Given the description of an element on the screen output the (x, y) to click on. 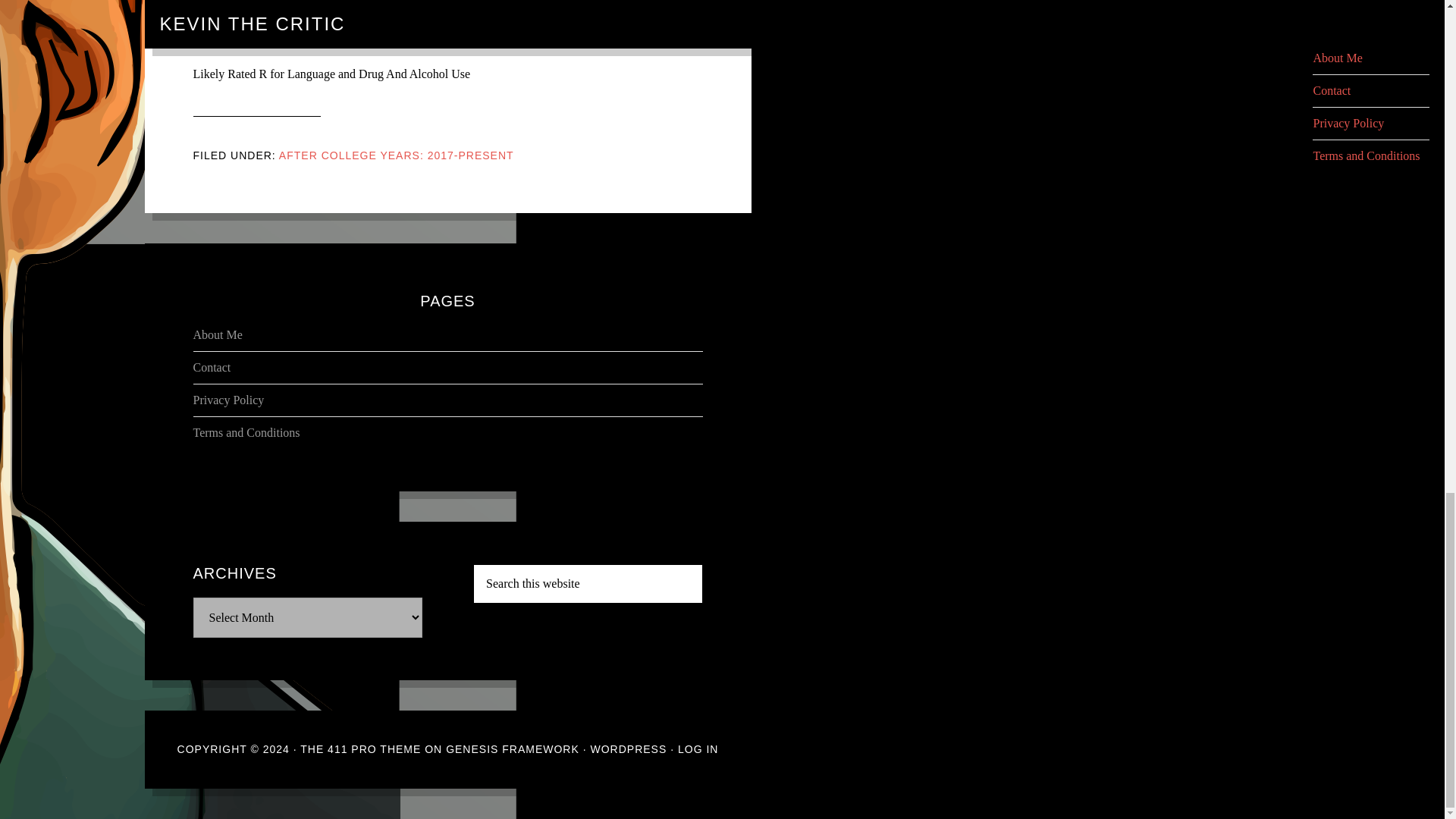
WORDPRESS (627, 748)
LOG IN (697, 748)
THE 411 PRO THEME (359, 748)
AFTER COLLEGE YEARS: 2017-PRESENT (396, 155)
About Me (216, 334)
Terms and Conditions (245, 431)
Contact (211, 367)
Privacy Policy (227, 399)
GENESIS FRAMEWORK (512, 748)
